Given the description of an element on the screen output the (x, y) to click on. 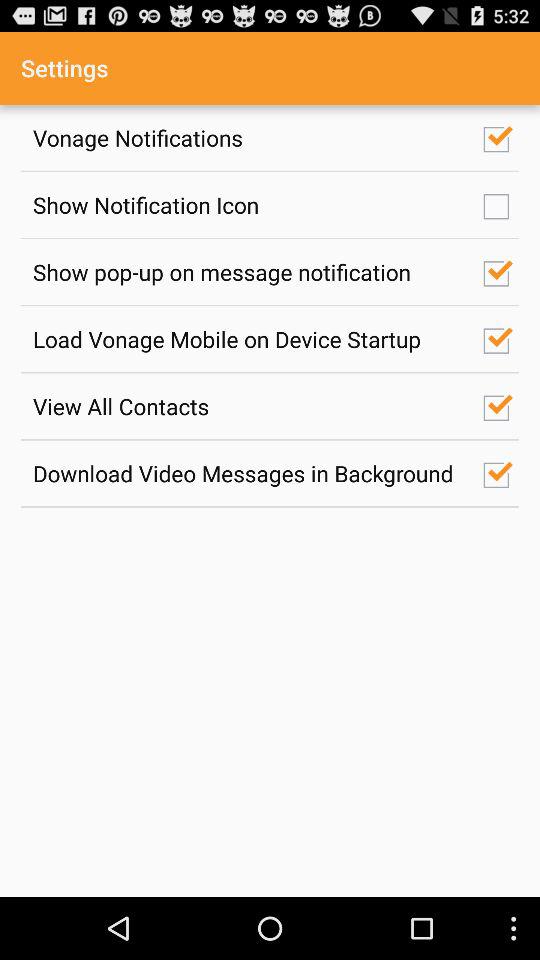
jump to download video messages item (247, 473)
